Given the description of an element on the screen output the (x, y) to click on. 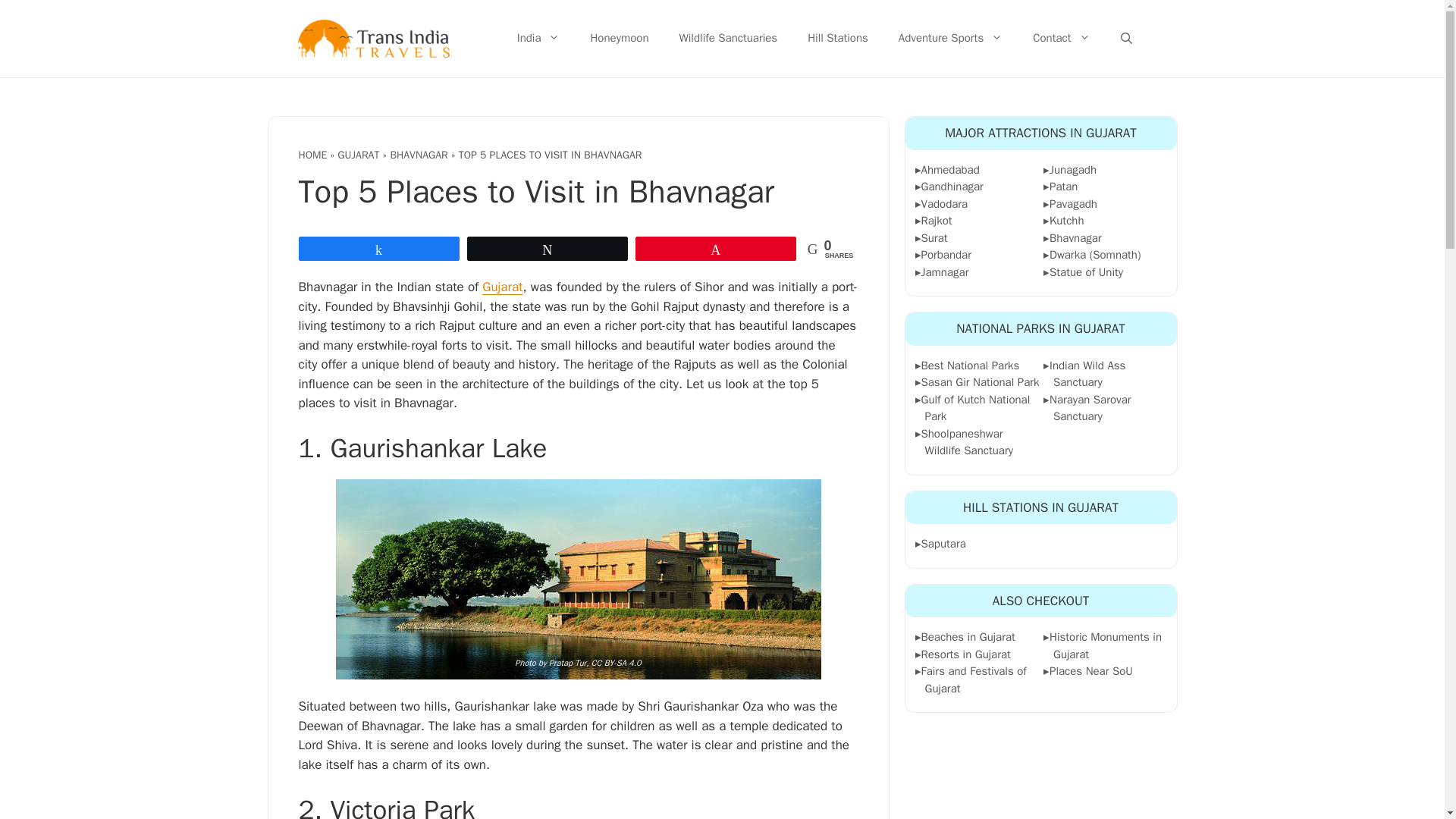
India (538, 38)
